Given the description of an element on the screen output the (x, y) to click on. 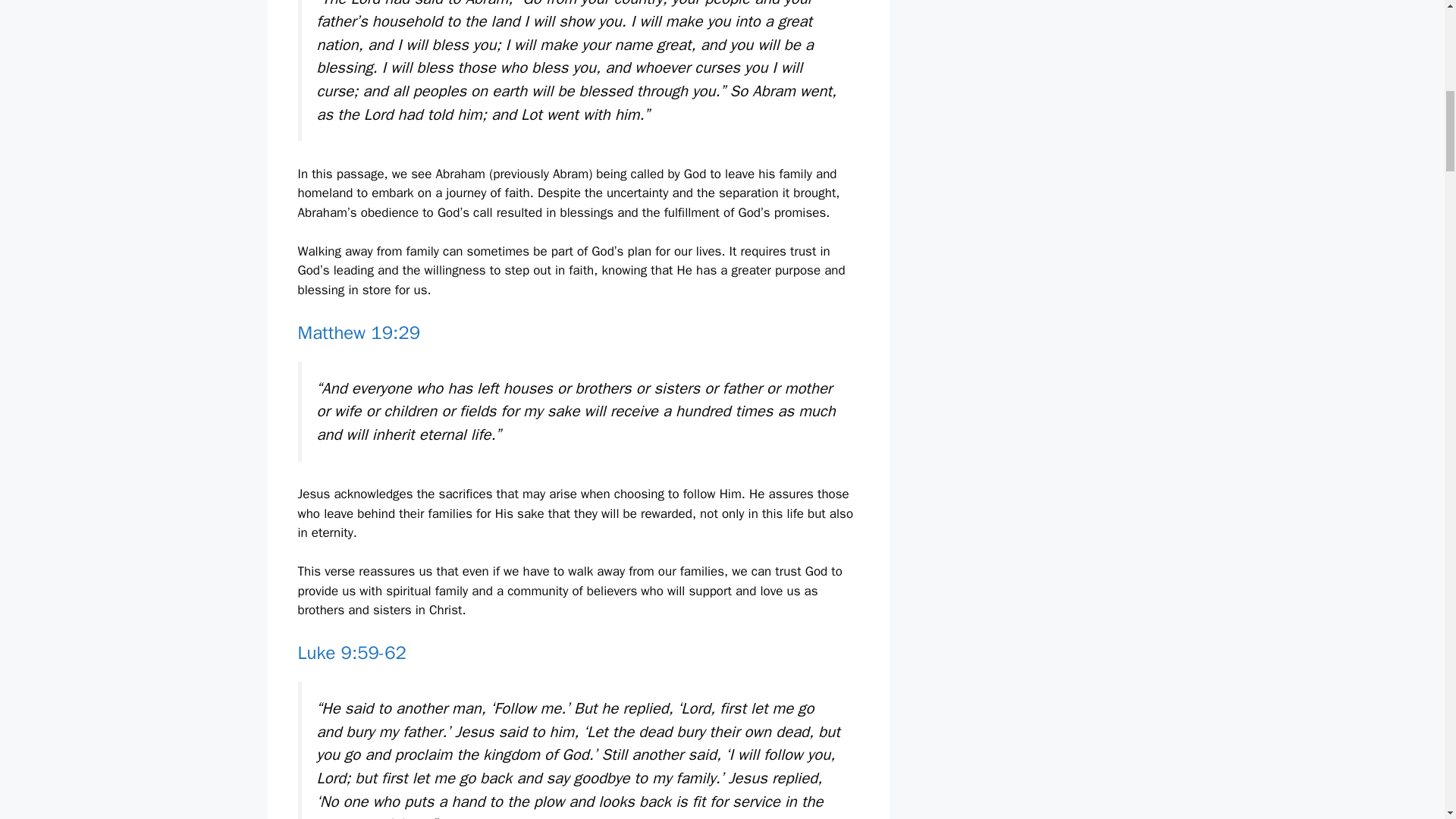
Matthew 19:29 (358, 332)
Luke 9:59-62 (351, 652)
